Given the description of an element on the screen output the (x, y) to click on. 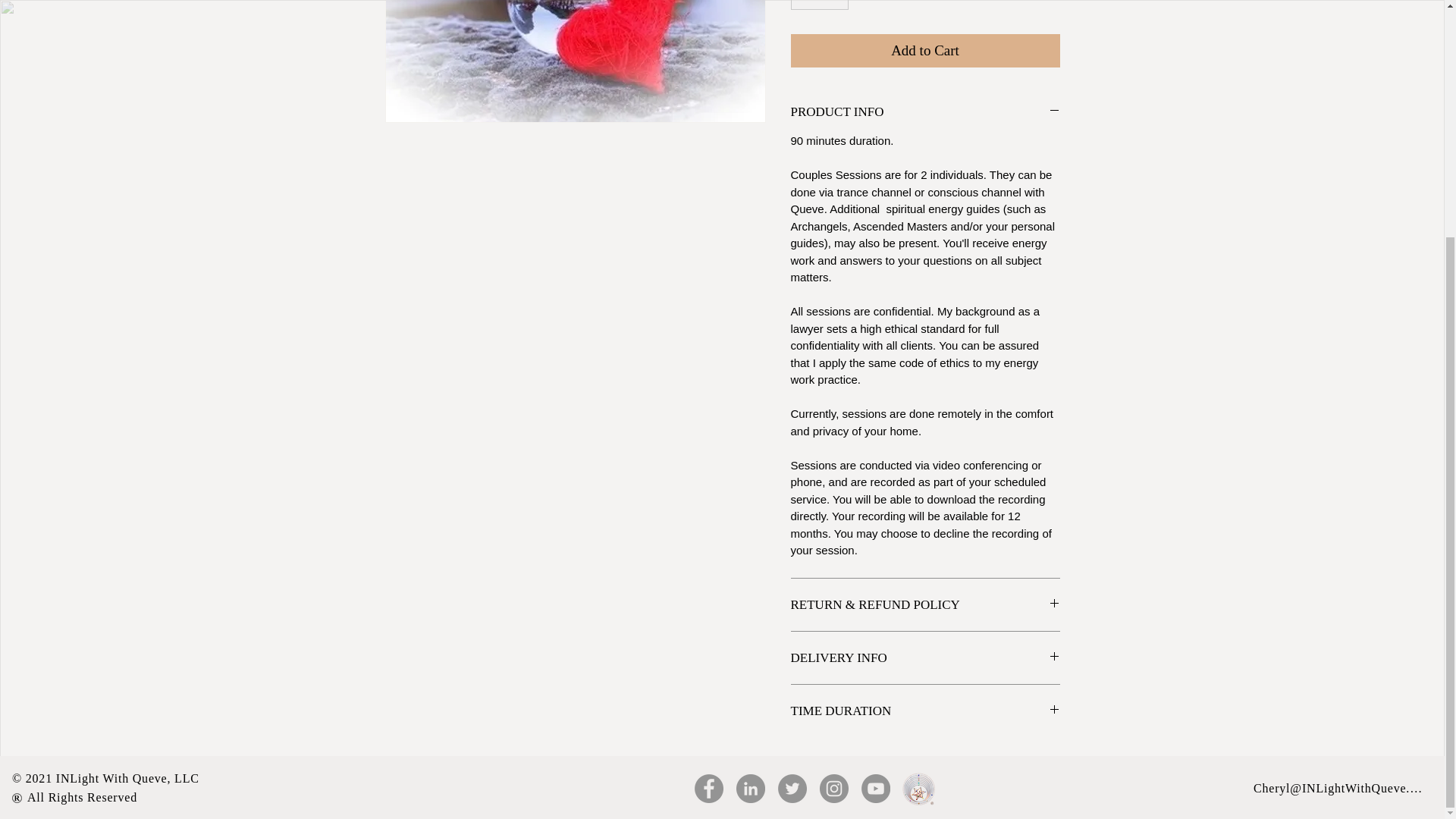
Add to Cart (924, 50)
PRODUCT INFO (924, 111)
1 (818, 4)
TIME DURATION (924, 710)
DELIVERY INFO (924, 657)
